Given the description of an element on the screen output the (x, y) to click on. 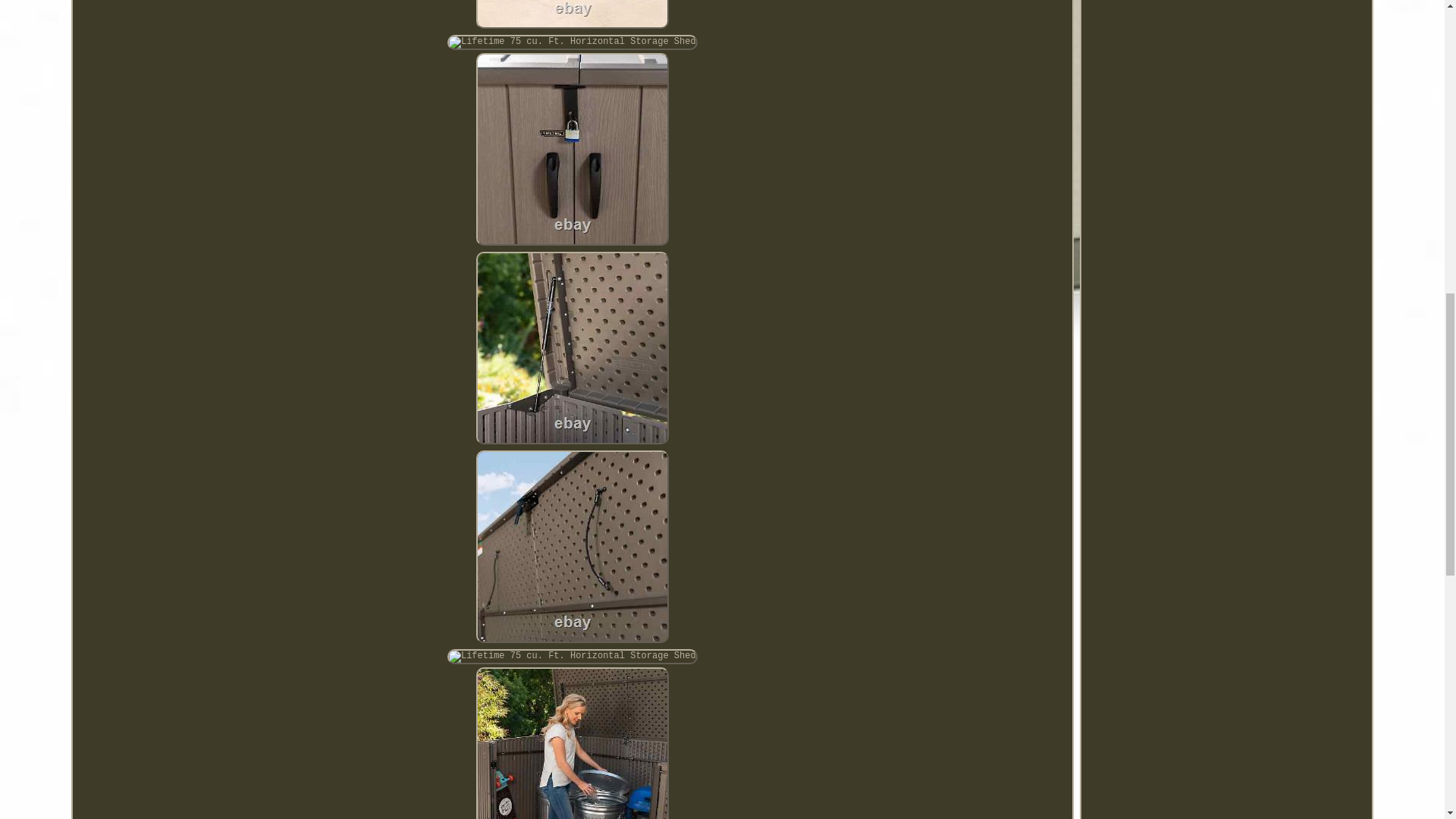
Lifetime 75 cu. Ft. Horizontal Storage Shed (572, 14)
Lifetime 75 cu. Ft. Horizontal Storage Shed (571, 42)
Lifetime 75 cu. Ft. Horizontal Storage Shed (572, 743)
Lifetime 75 cu. Ft. Horizontal Storage Shed (572, 347)
Lifetime 75 cu. Ft. Horizontal Storage Shed (571, 656)
Lifetime 75 cu. Ft. Horizontal Storage Shed (572, 149)
Lifetime 75 cu. Ft. Horizontal Storage Shed (572, 546)
